Given the description of an element on the screen output the (x, y) to click on. 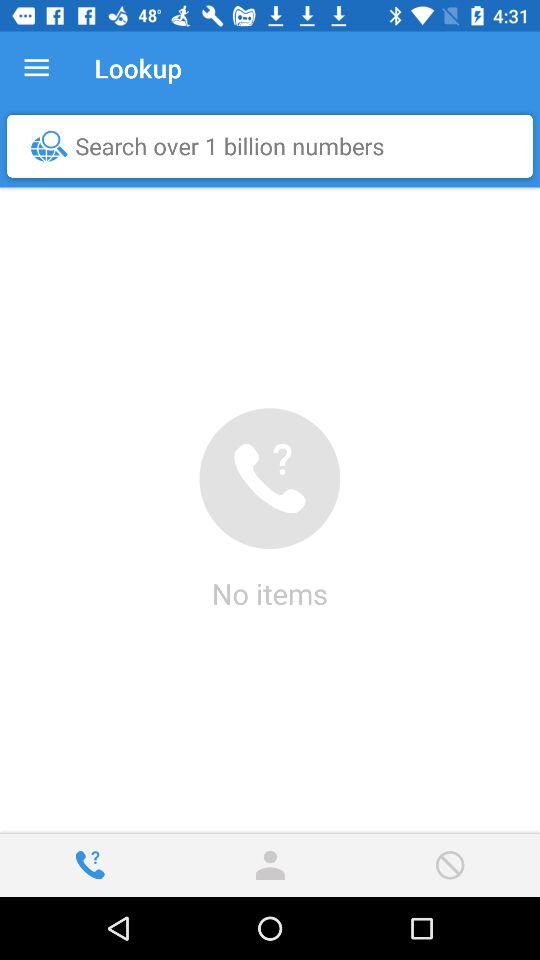
select item to the left of lookup item (36, 68)
